Given the description of an element on the screen output the (x, y) to click on. 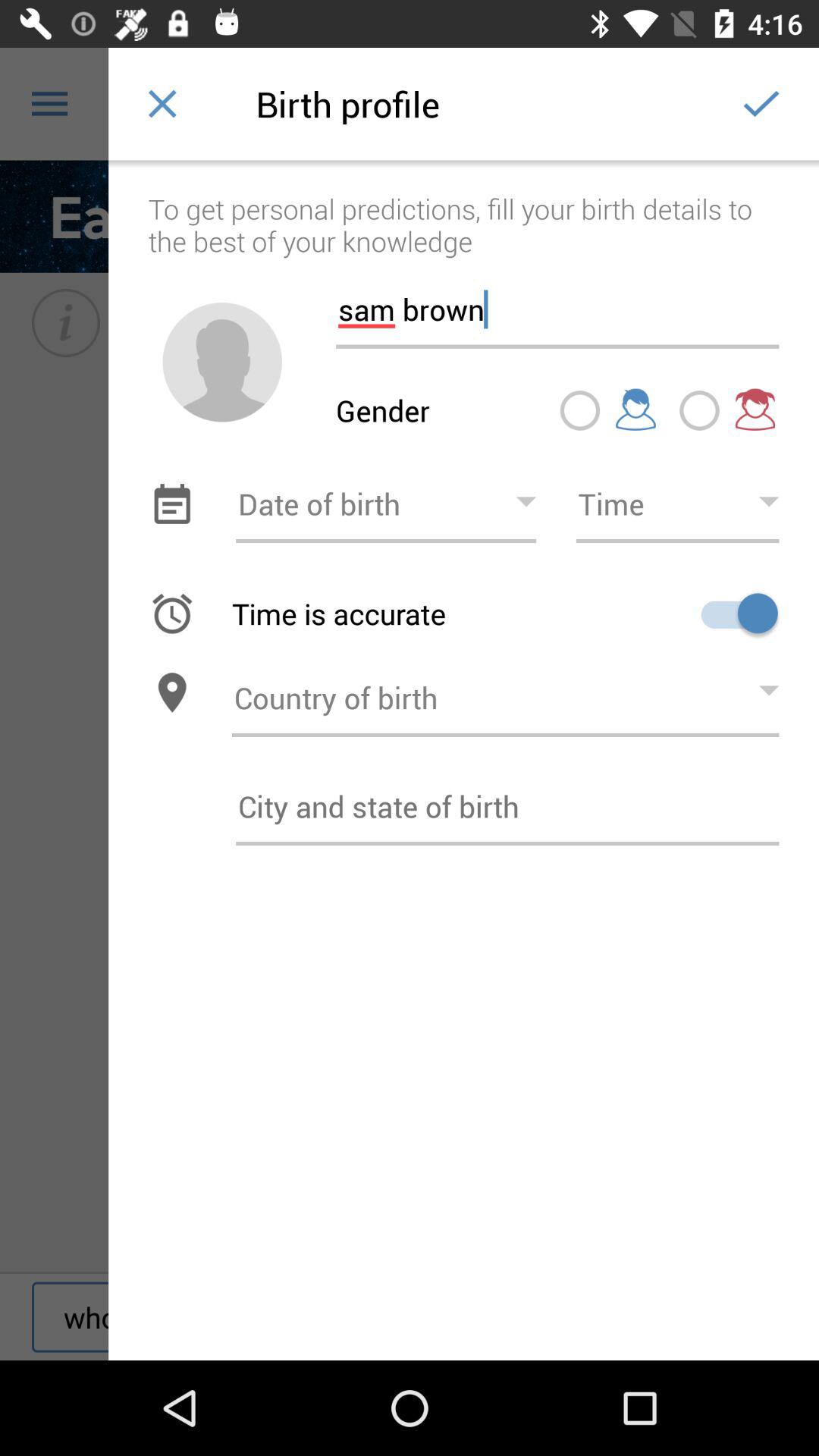
flip until sam brown (557, 303)
